Given the description of an element on the screen output the (x, y) to click on. 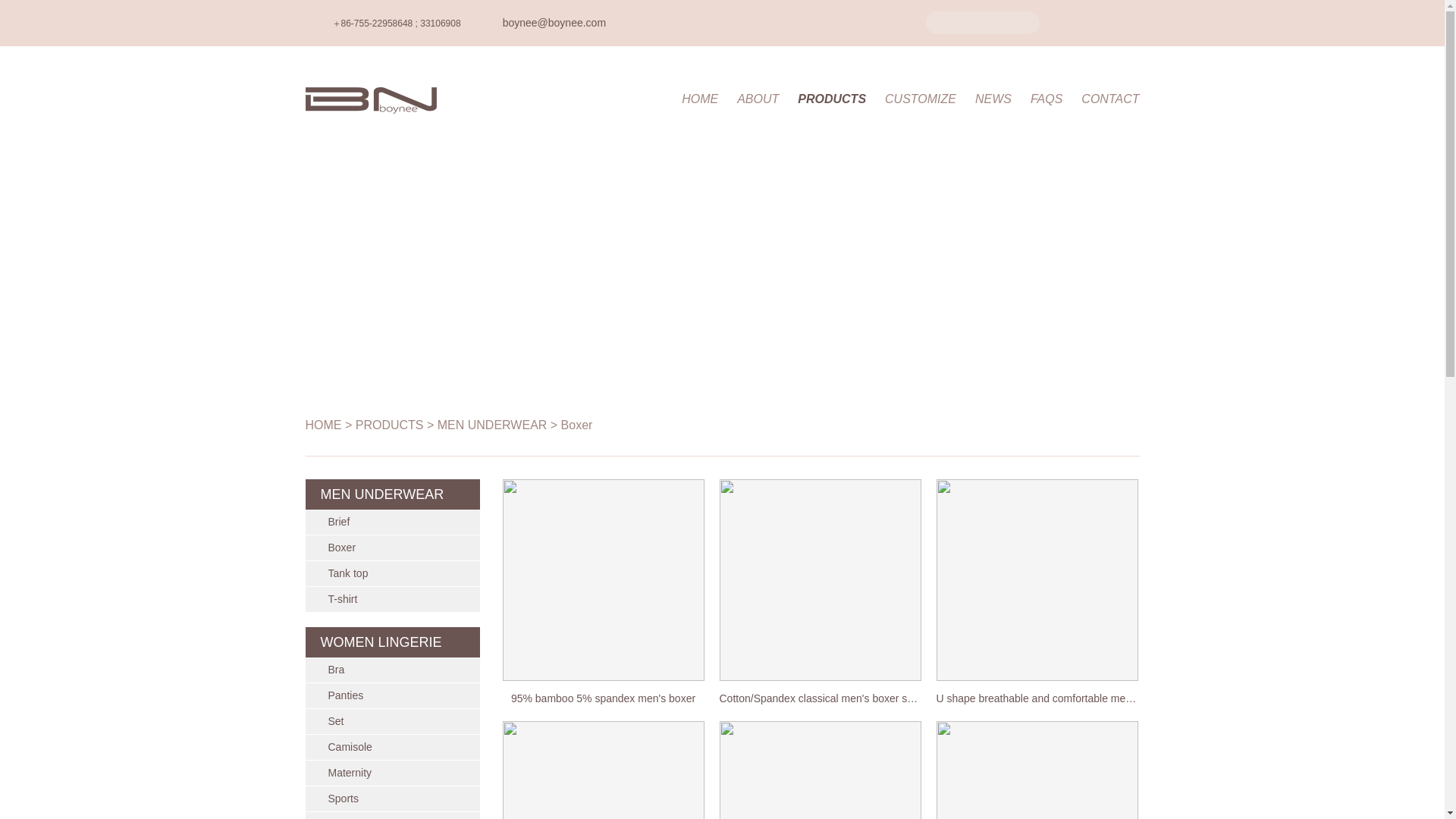
PRODUCTS (389, 424)
Boxer (576, 424)
Brief (392, 521)
MEN UNDERWEAR (492, 424)
Tank top (392, 573)
HOME (322, 424)
Boxer (392, 547)
T-shirt (392, 599)
